Given the description of an element on the screen output the (x, y) to click on. 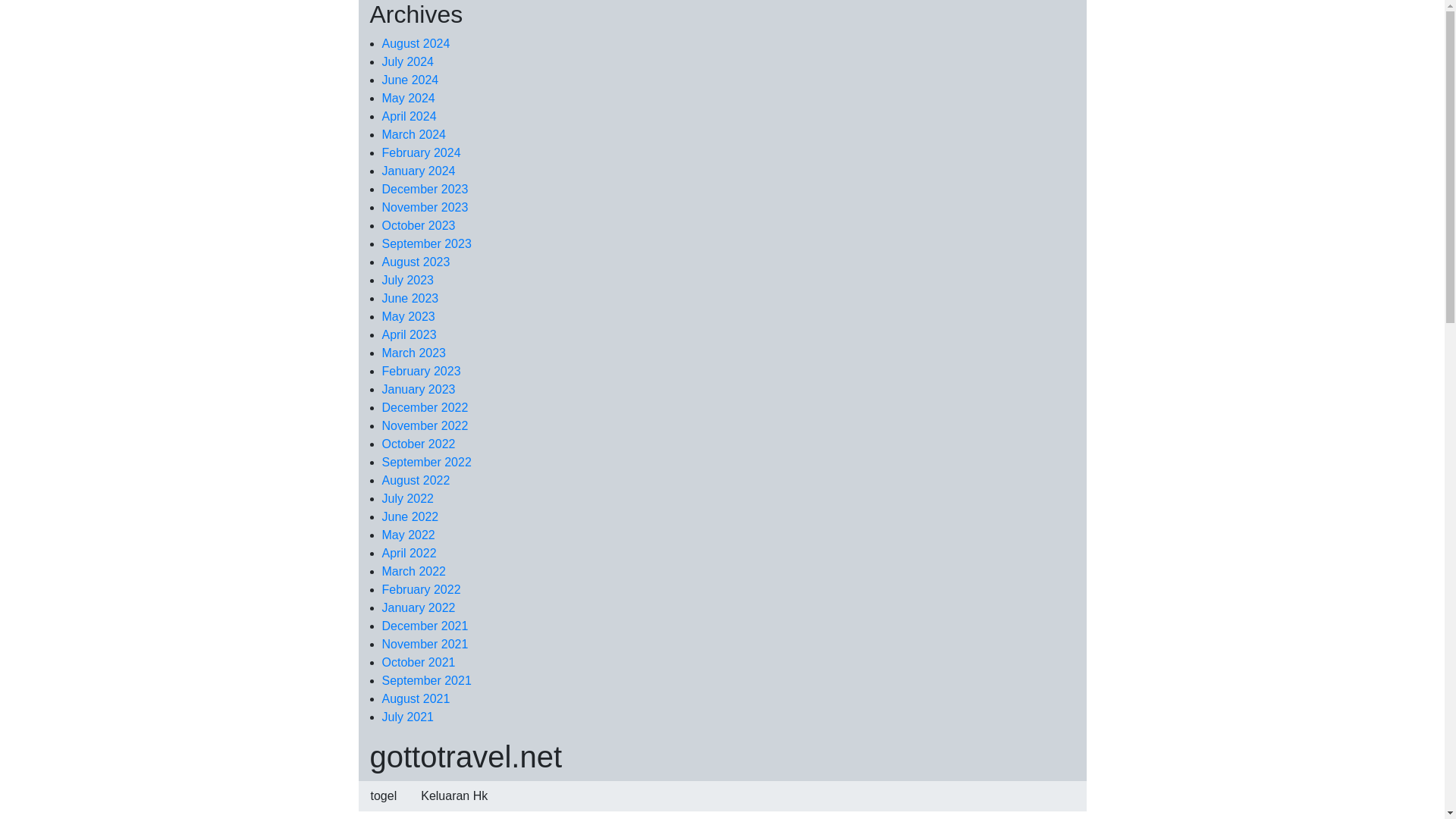
September 2023 (426, 243)
July 2024 (407, 61)
August 2024 (415, 42)
June 2022 (410, 516)
May 2023 (408, 316)
January 2024 (418, 170)
March 2024 (413, 133)
February 2024 (421, 152)
December 2023 (424, 188)
April 2022 (408, 553)
